Given the description of an element on the screen output the (x, y) to click on. 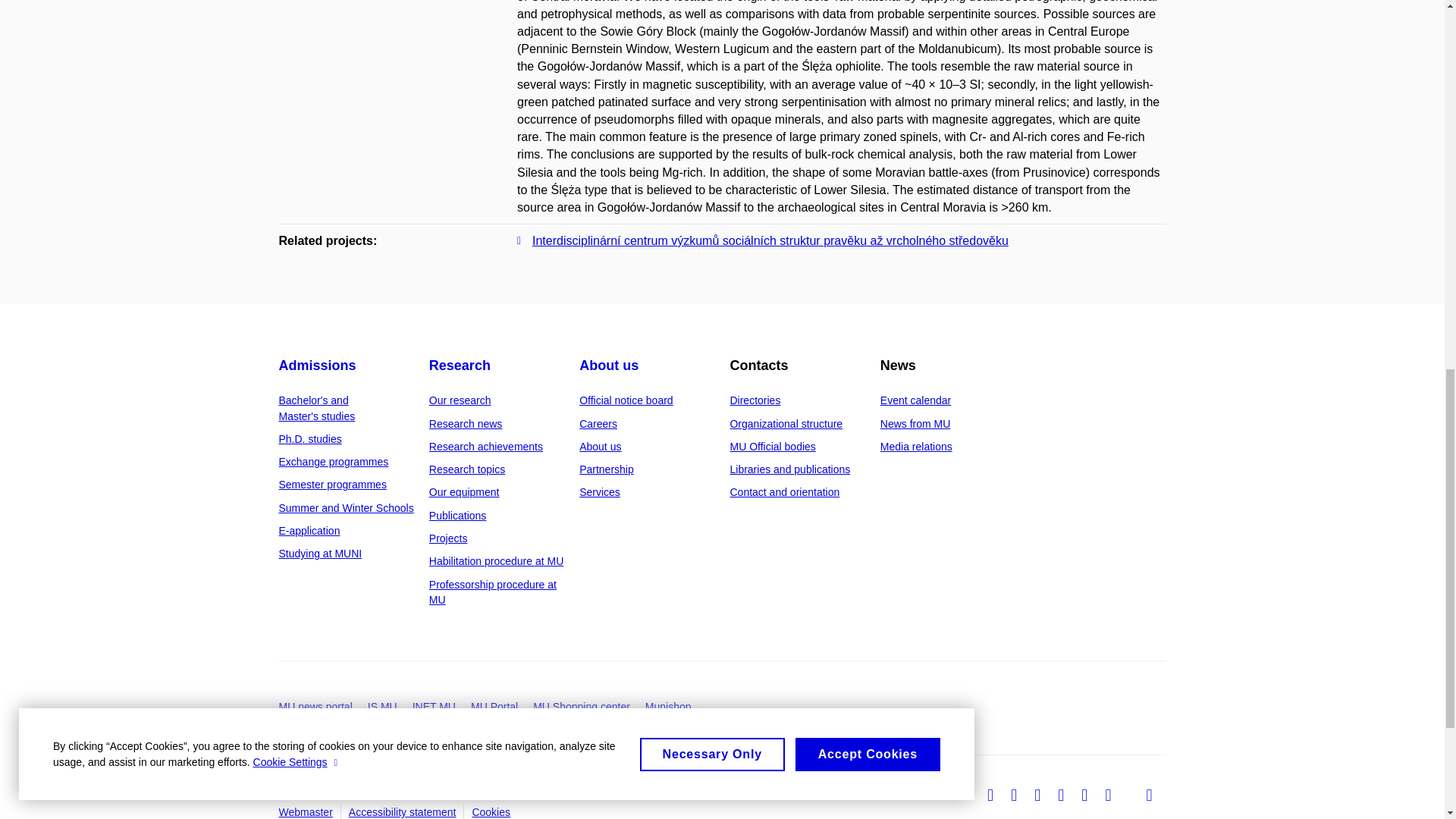
Exchange programmes (333, 461)
Our research (460, 399)
Ph.D. studies (310, 439)
Studying at MUNI (320, 553)
Admissions (317, 365)
Summer and Winter Schools (346, 508)
Semester programmes (333, 484)
Research topics (467, 469)
Research achievements (486, 446)
Research (459, 365)
